Given the description of an element on the screen output the (x, y) to click on. 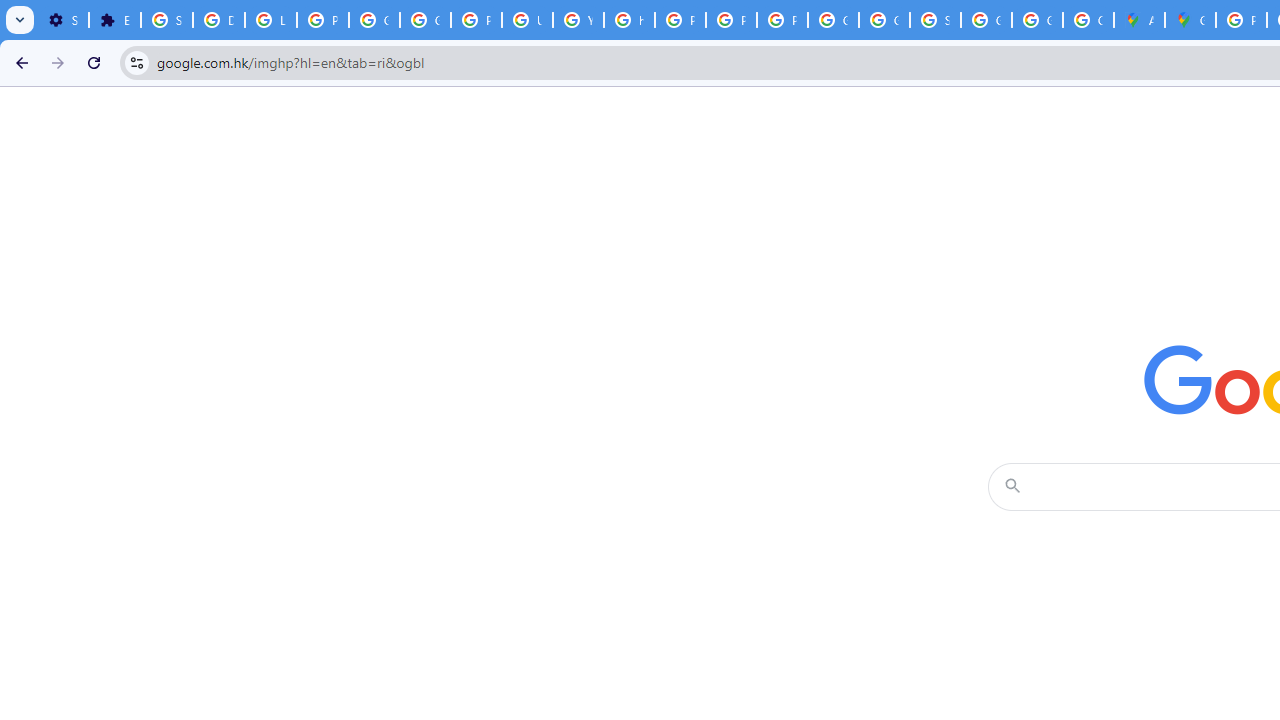
Google Maps (1189, 20)
Policy Accountability and Transparency - Transparency Center (1241, 20)
Privacy Help Center - Policies Help (680, 20)
Google Account Help (424, 20)
https://scholar.google.com/ (629, 20)
